Given the description of an element on the screen output the (x, y) to click on. 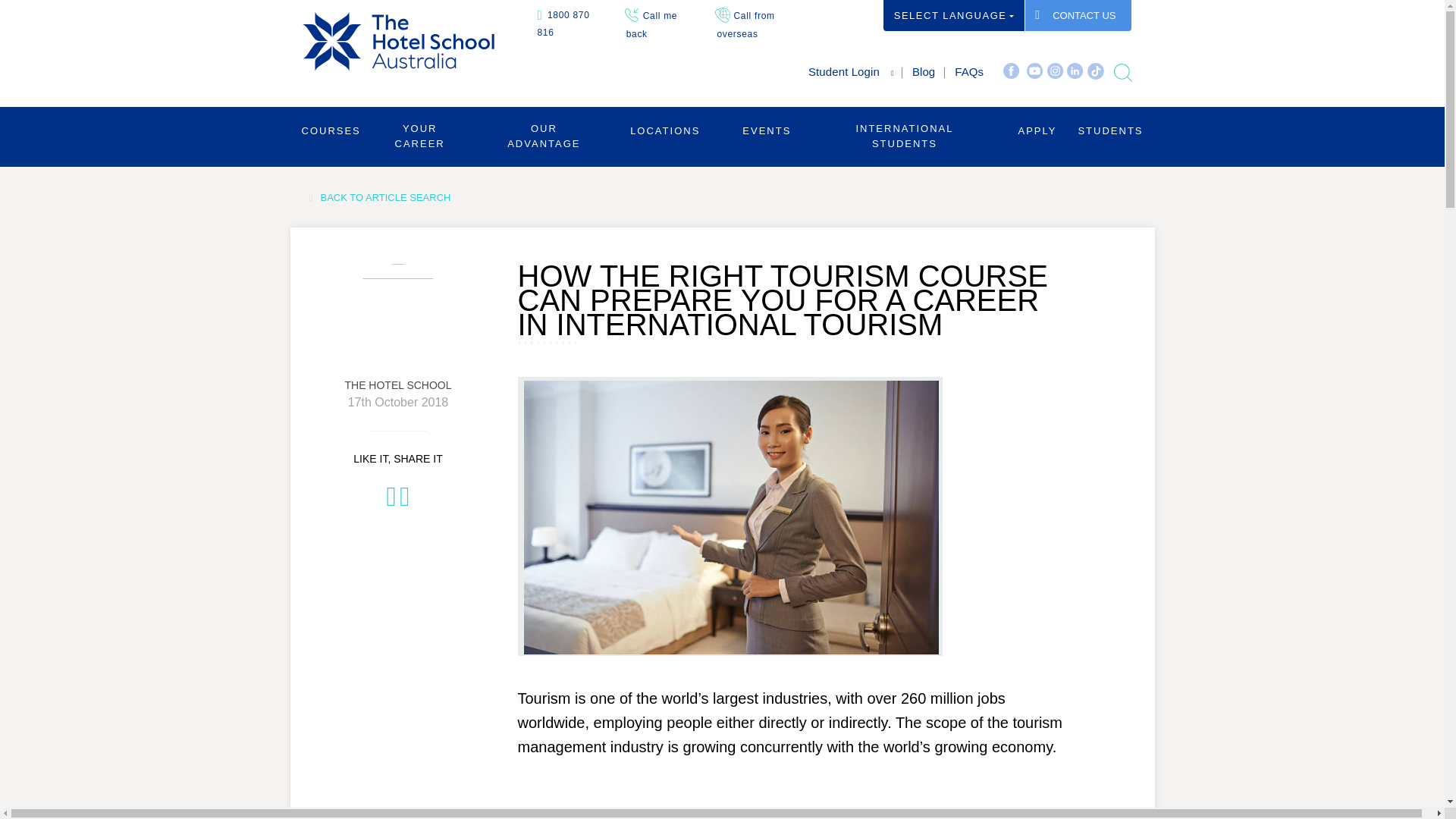
FAQs (969, 71)
Call from overseas (745, 24)
Call me back (652, 24)
Blog (923, 71)
OUR ADVANTAGE (544, 135)
SELECT LANGUAGE (954, 15)
COURSES (331, 130)
YOUR CAREER (419, 135)
Student Login (843, 71)
CONTACT US (1078, 15)
